Given the description of an element on the screen output the (x, y) to click on. 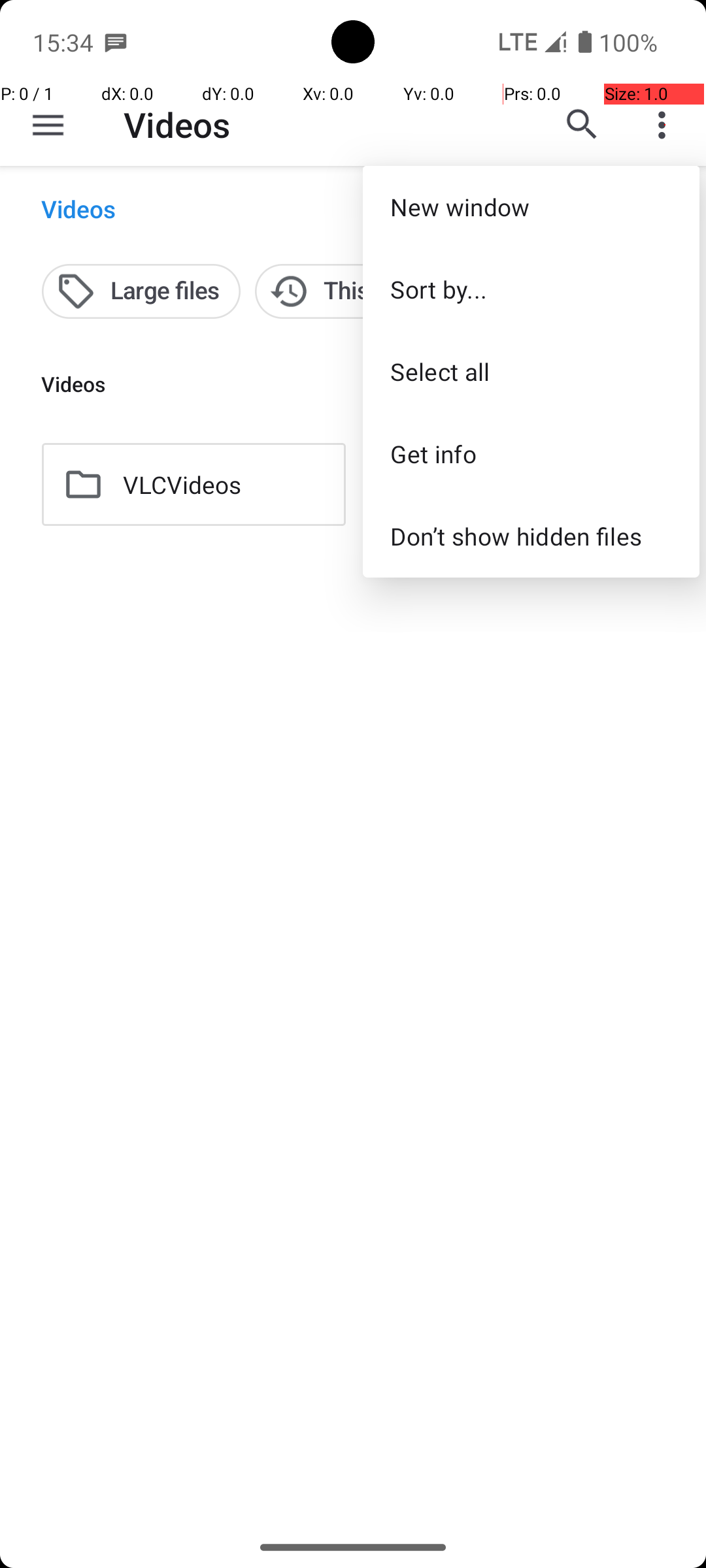
New window Element type: android.widget.TextView (531, 206)
Select all Element type: android.widget.TextView (531, 371)
Get info Element type: android.widget.TextView (531, 453)
Don’t show hidden files Element type: android.widget.TextView (531, 535)
